Given the description of an element on the screen output the (x, y) to click on. 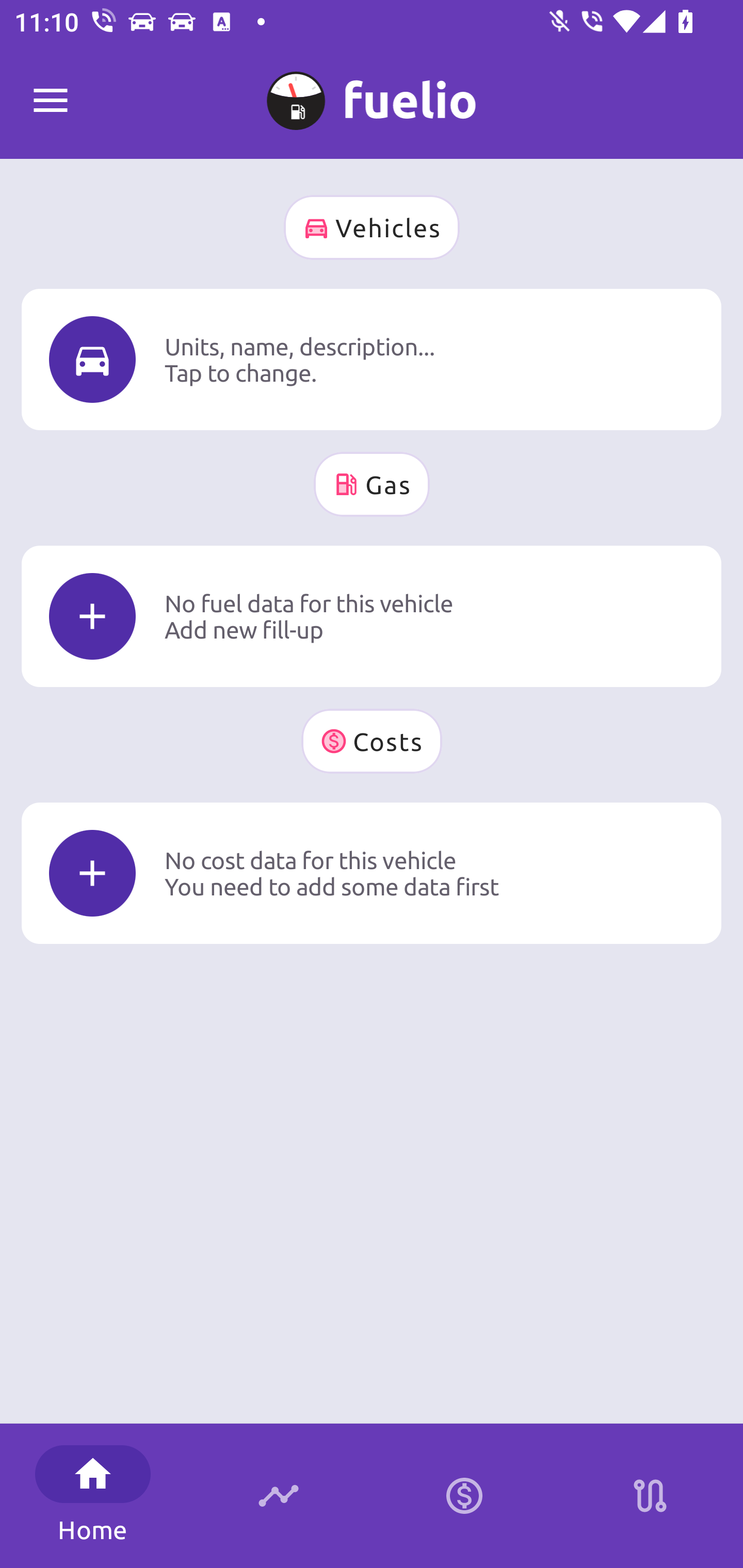
A No name 0 km (371, 92)
Fuelio (50, 101)
Vehicles (371, 227)
Icon Units, name, description...
Tap to change. (371, 358)
Icon (92, 359)
Gas (371, 484)
Icon No fuel data for this vehicle
Add new fill-up (371, 615)
Icon (92, 616)
Costs (371, 740)
Icon (92, 873)
Timeline (278, 1495)
Calculator (464, 1495)
Stations on route (650, 1495)
